Given the description of an element on the screen output the (x, y) to click on. 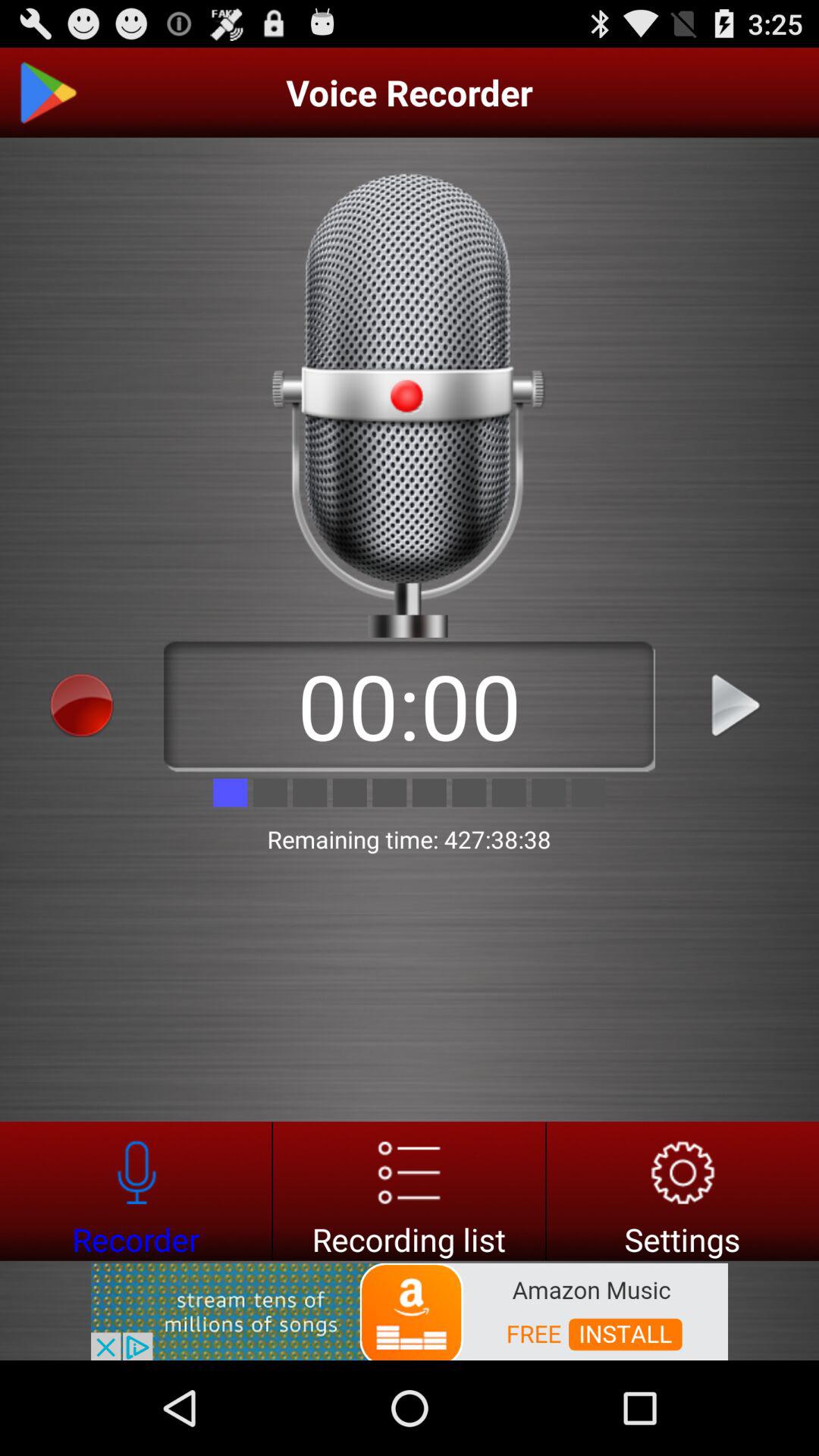
apps (81, 705)
